Given the description of an element on the screen output the (x, y) to click on. 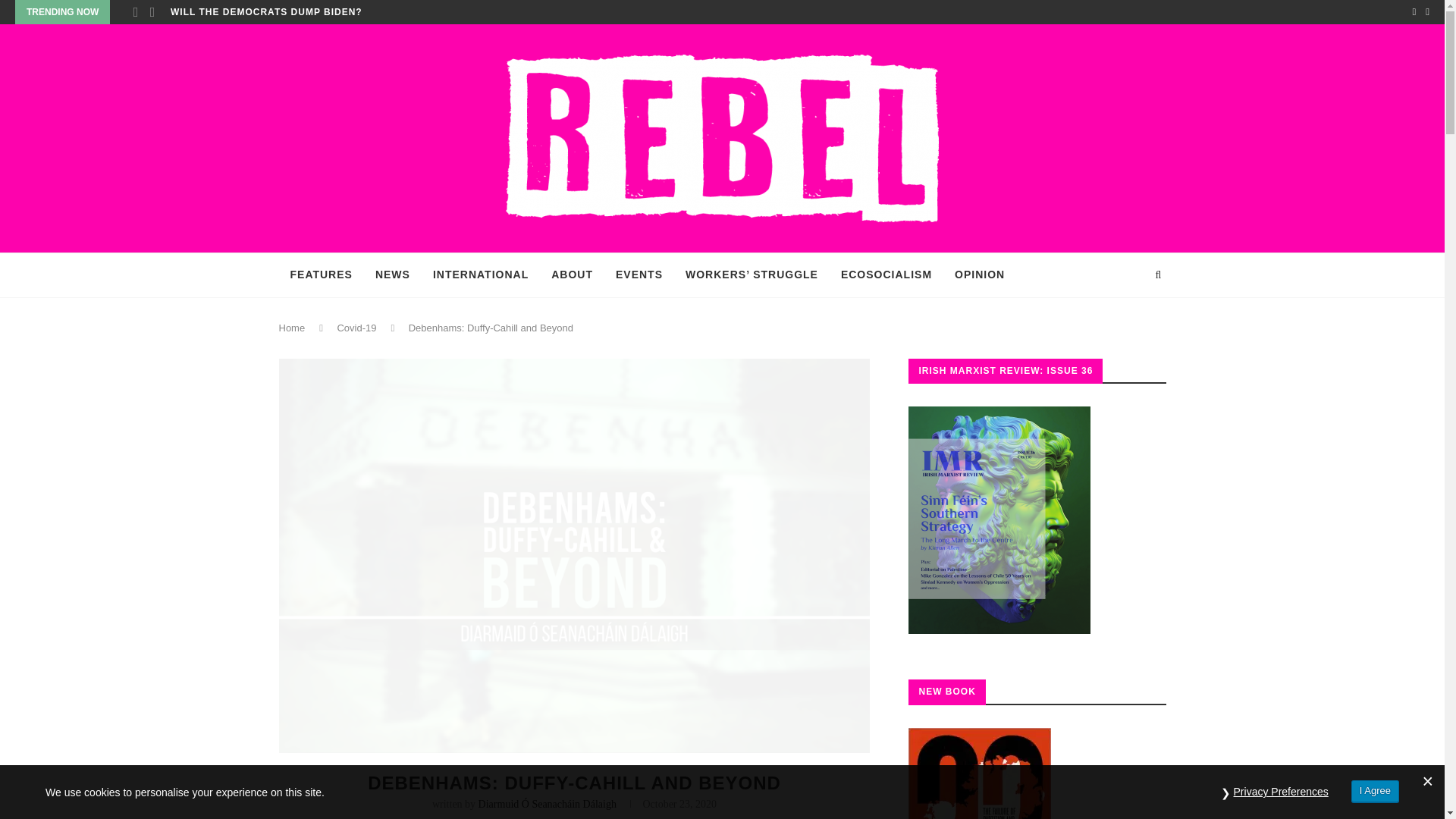
ECOSOCIALISM (886, 275)
FEATURES (321, 275)
WILL THE DEMOCRATS DUMP BIDEN? (266, 12)
ABOUT (572, 275)
INTERNATIONAL (481, 275)
EVENTS (639, 275)
NEWS (393, 275)
